Given the description of an element on the screen output the (x, y) to click on. 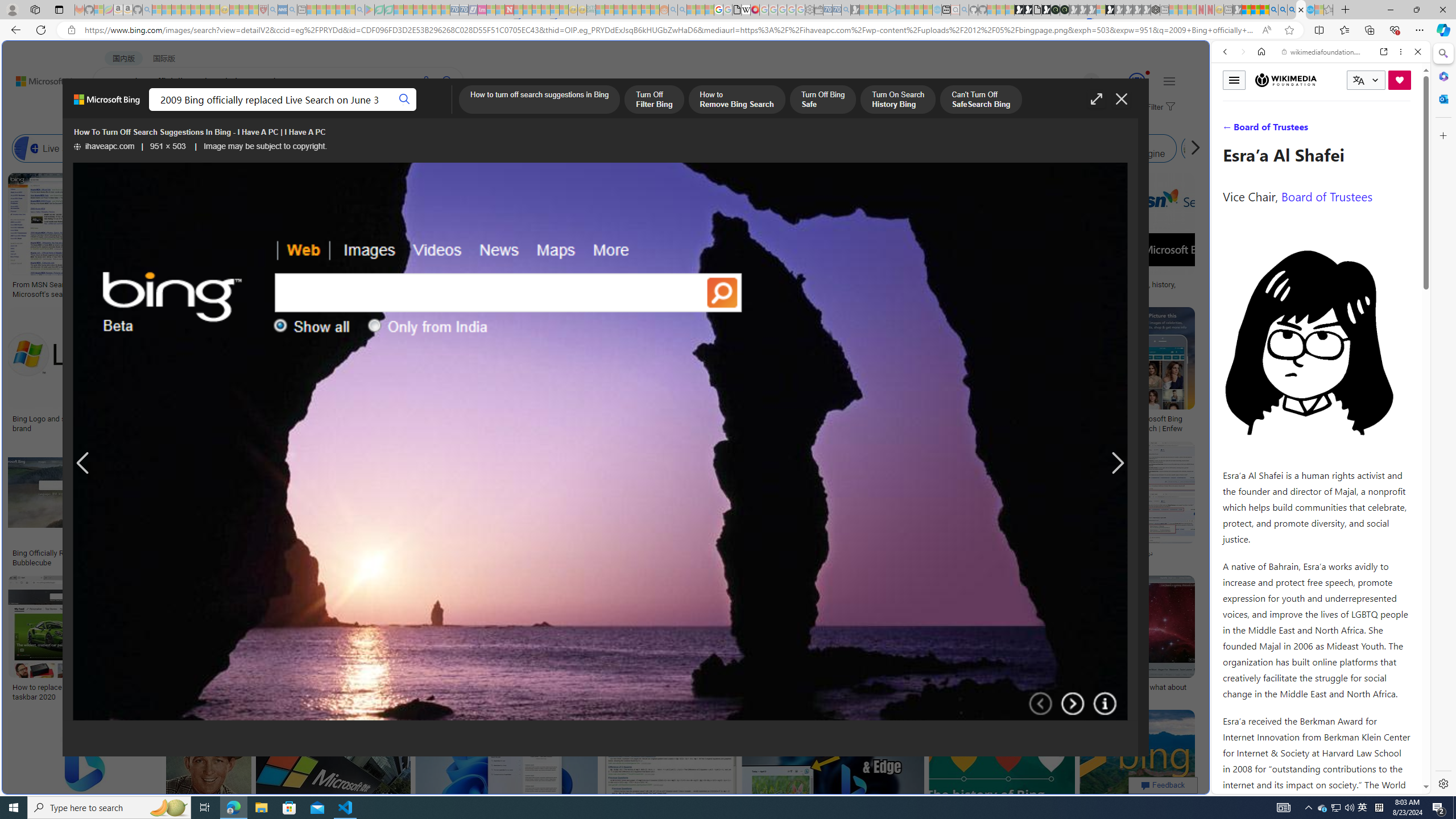
Bing Image Search Similar Images (894, 148)
Bing Word Search (368, 148)
2009 Bing officially replaced Live Search on June 3 - Search (1283, 9)
Owner of Bing Search Engine (1067, 148)
Bing Image Search Similar Images (964, 148)
